Given the description of an element on the screen output the (x, y) to click on. 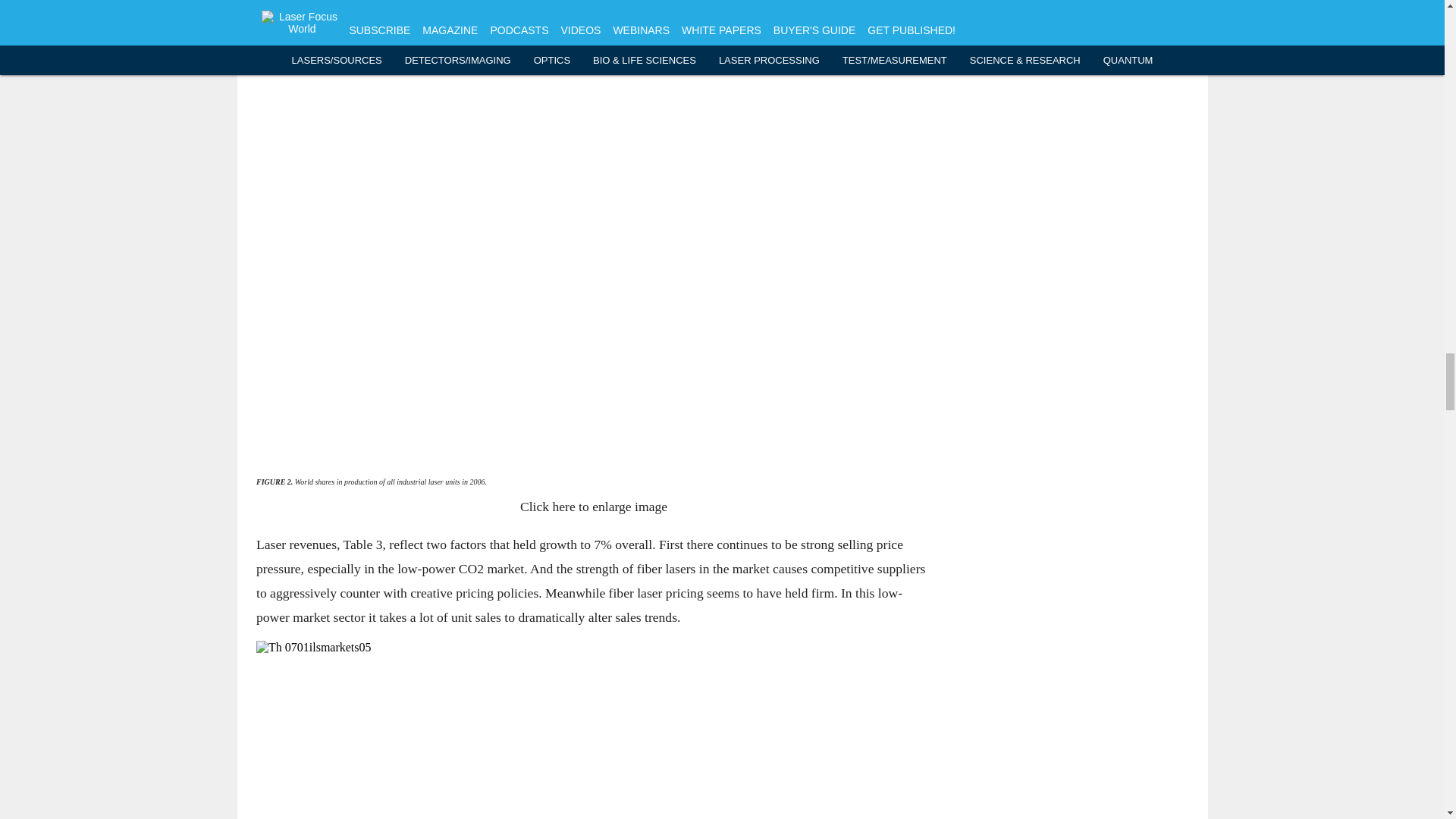
Th 0701ilsmarkets05 (593, 729)
